Given the description of an element on the screen output the (x, y) to click on. 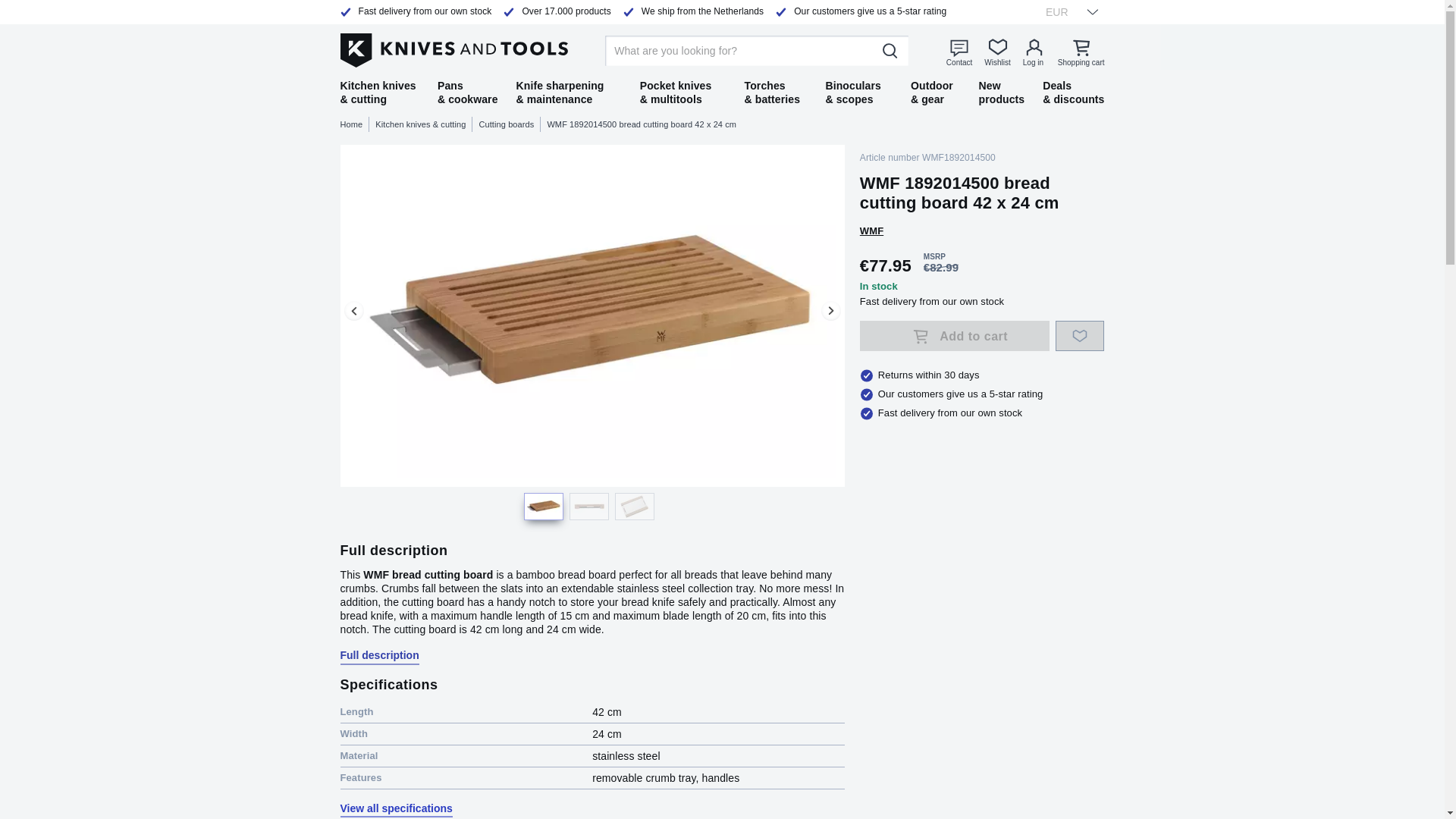
Full description (379, 655)
Cutting boards (509, 124)
Logo (453, 48)
Home (354, 124)
Shopping cart (1081, 52)
EUR (1067, 11)
New products (1001, 92)
View all specifications (395, 807)
